Given the description of an element on the screen output the (x, y) to click on. 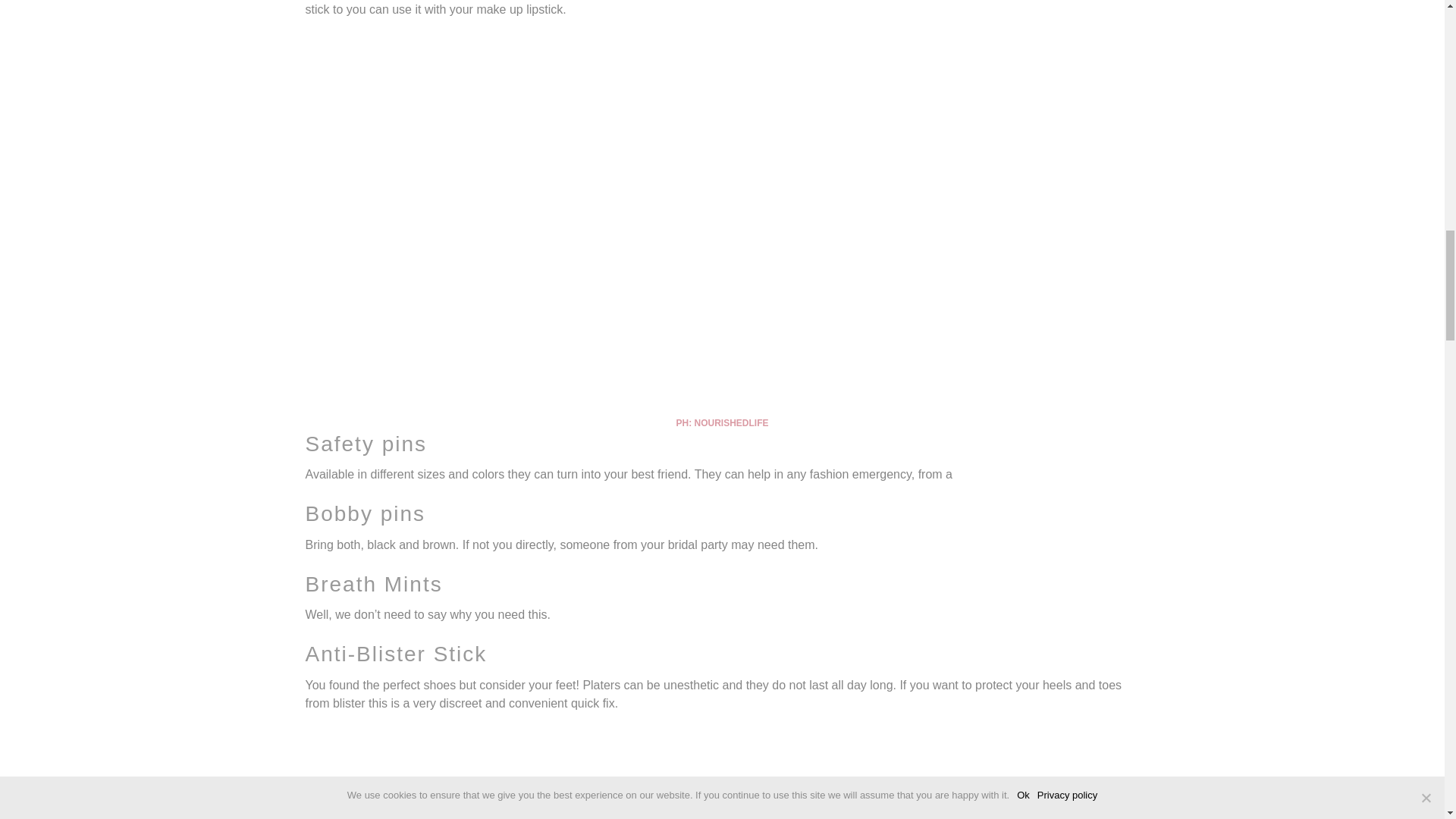
NOURISHEDLIFE (729, 422)
